Given the description of an element on the screen output the (x, y) to click on. 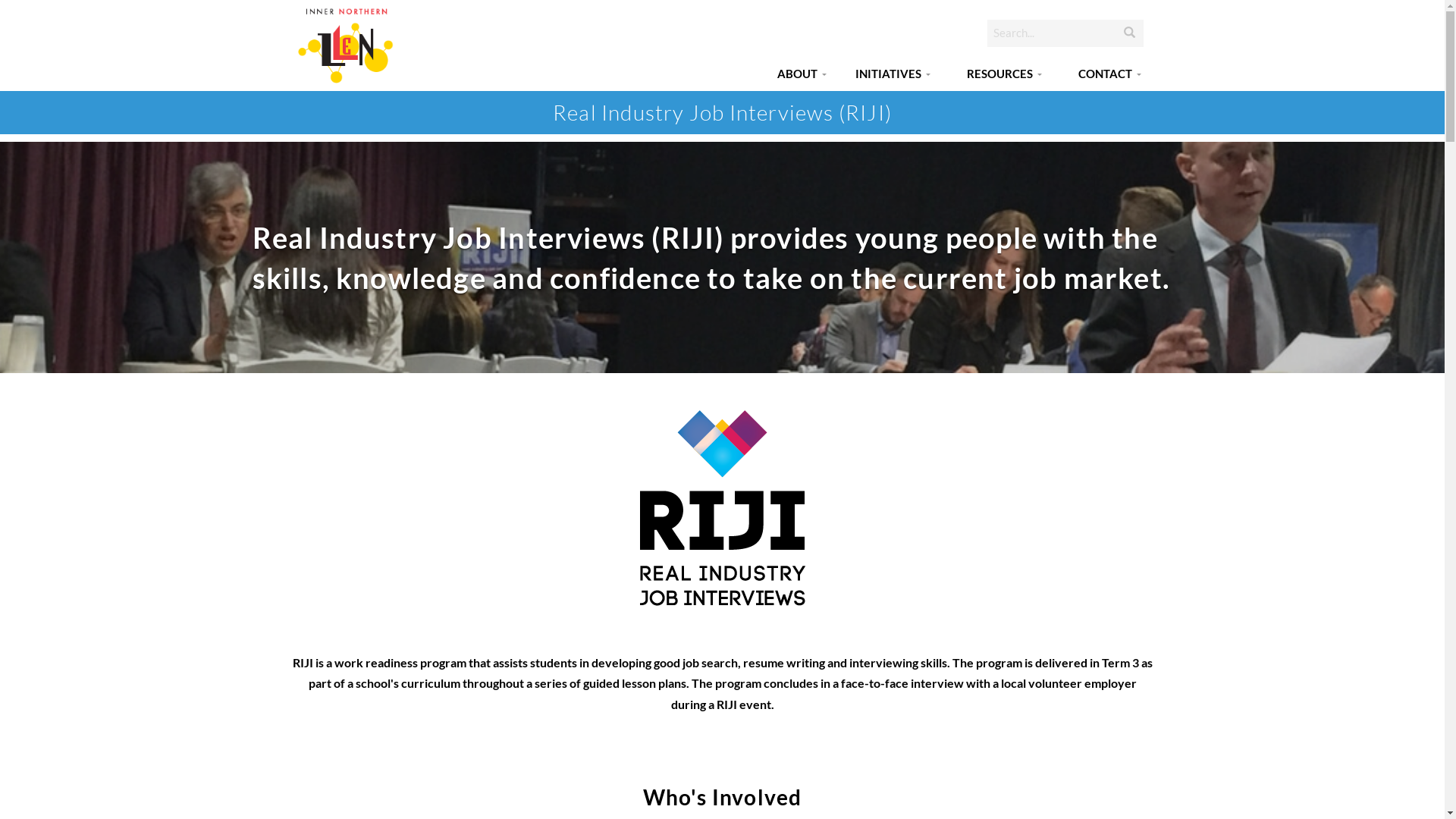
RESOURCES Element type: text (998, 73)
INITIATIVES Element type: text (888, 73)
RIJI Logo Element type: hover (722, 504)
CONTACT Element type: text (1104, 73)
